Given the description of an element on the screen output the (x, y) to click on. 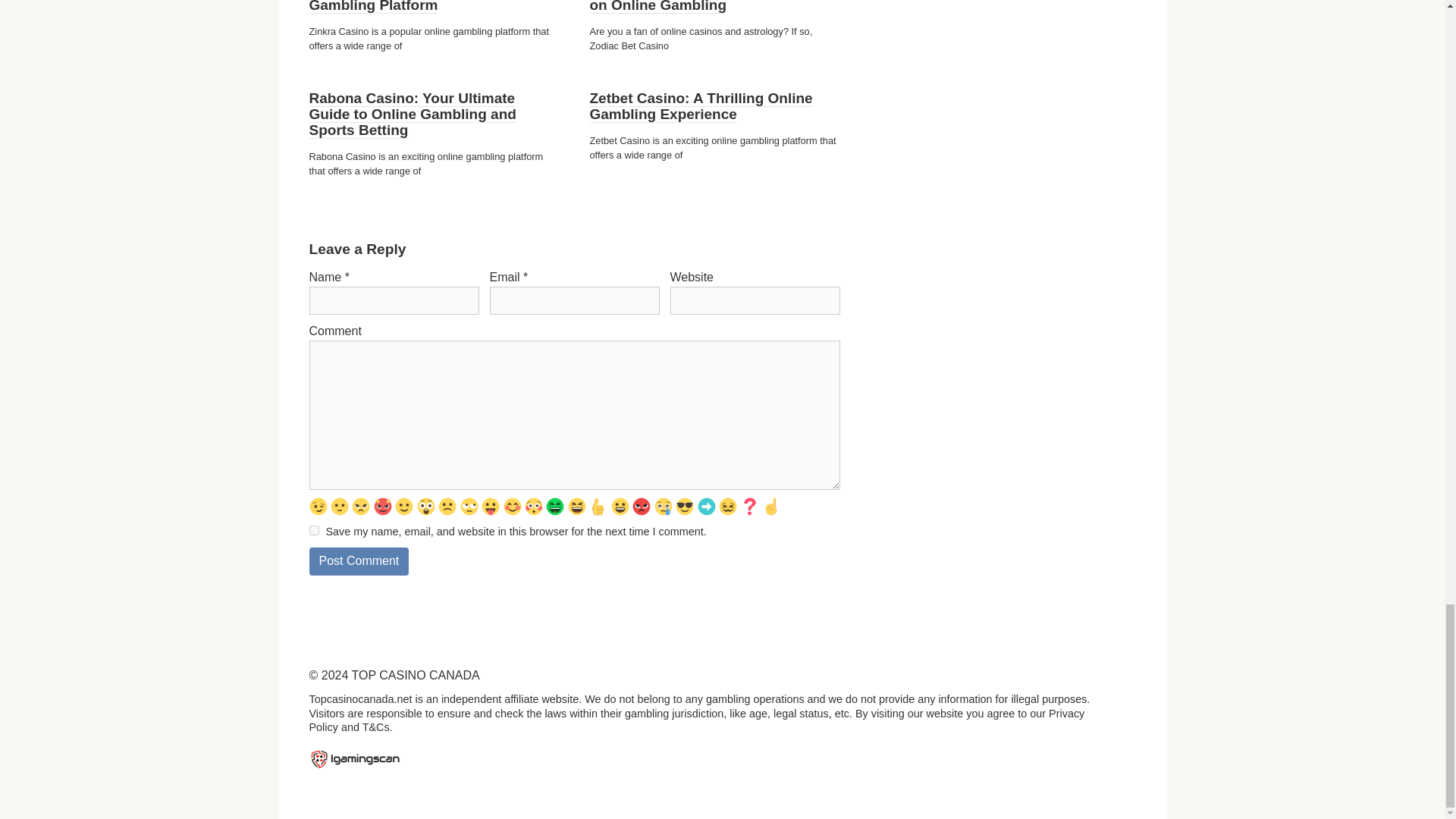
Post Comment (358, 561)
Zetbet Casino: A Thrilling Online Gambling Experience (700, 106)
Zinkra Casino: A Premier Online Gambling Platform (418, 6)
Post Comment (358, 561)
yes (313, 530)
Zodiac Bet Casino: A Celestial Twist on Online Gambling (713, 6)
